Given the description of an element on the screen output the (x, y) to click on. 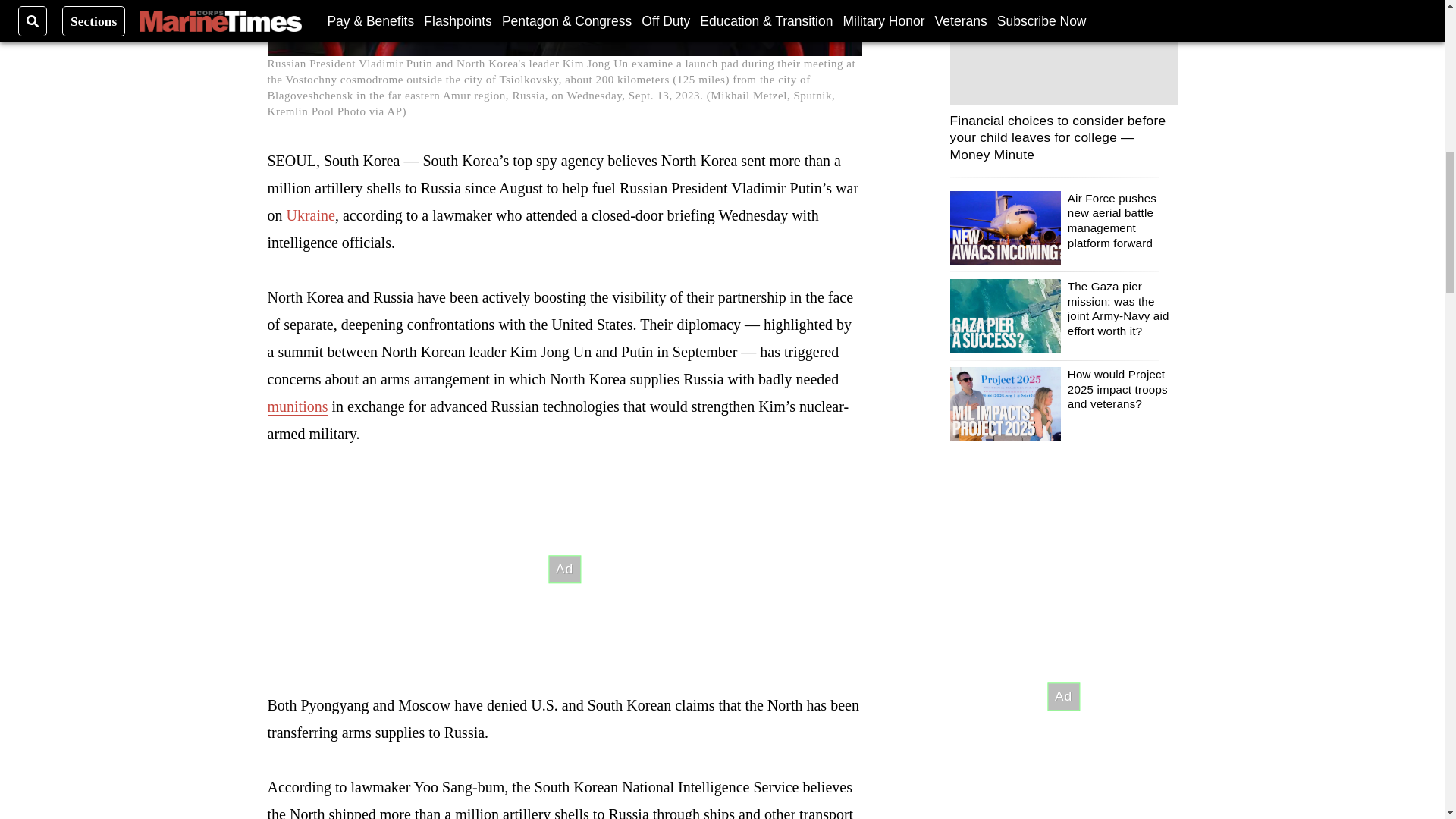
3rd party ad content (563, 569)
3rd party ad content (1062, 696)
